Given the description of an element on the screen output the (x, y) to click on. 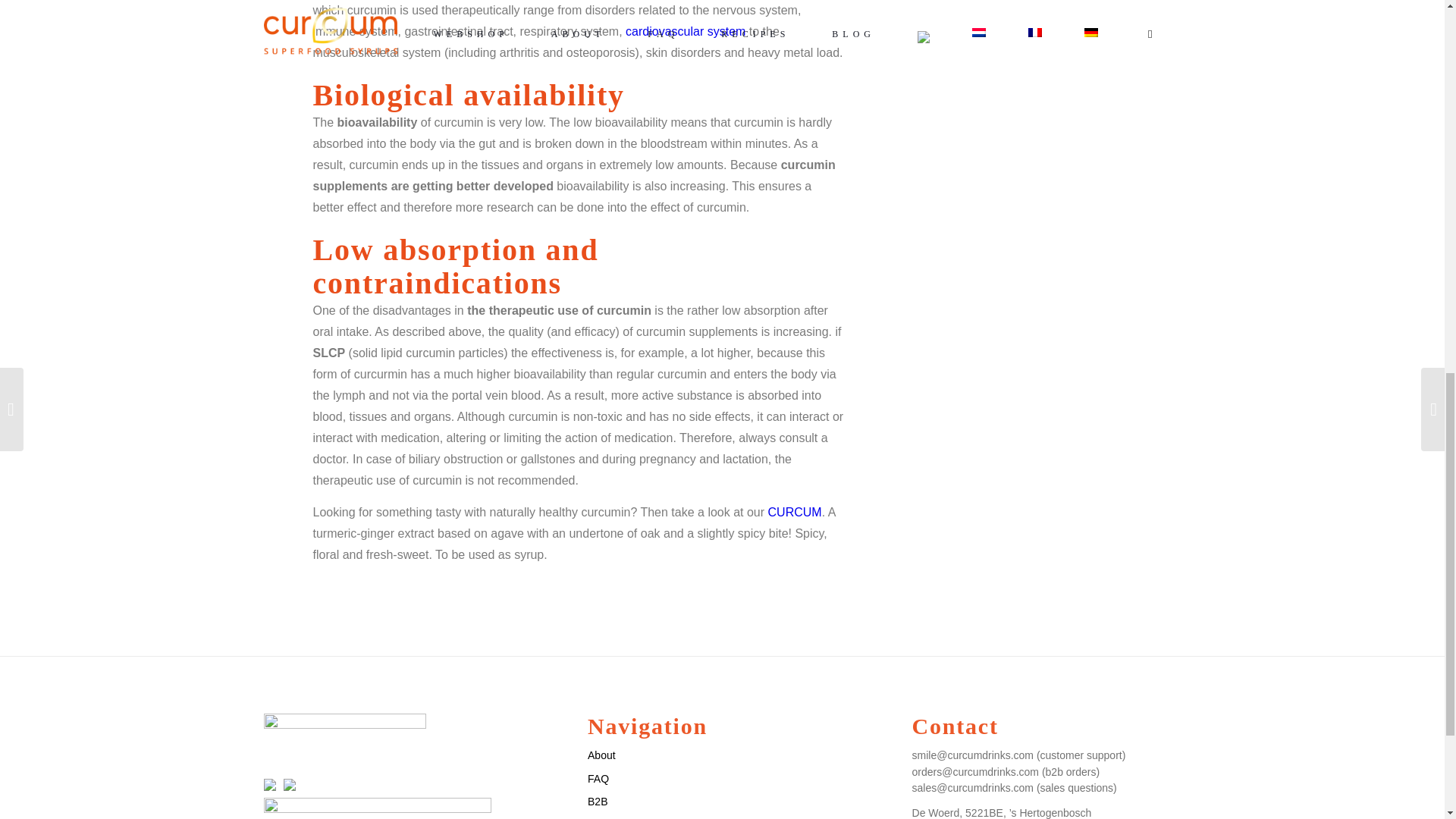
CURCUM (795, 512)
cardiovascular system (685, 31)
